Given the description of an element on the screen output the (x, y) to click on. 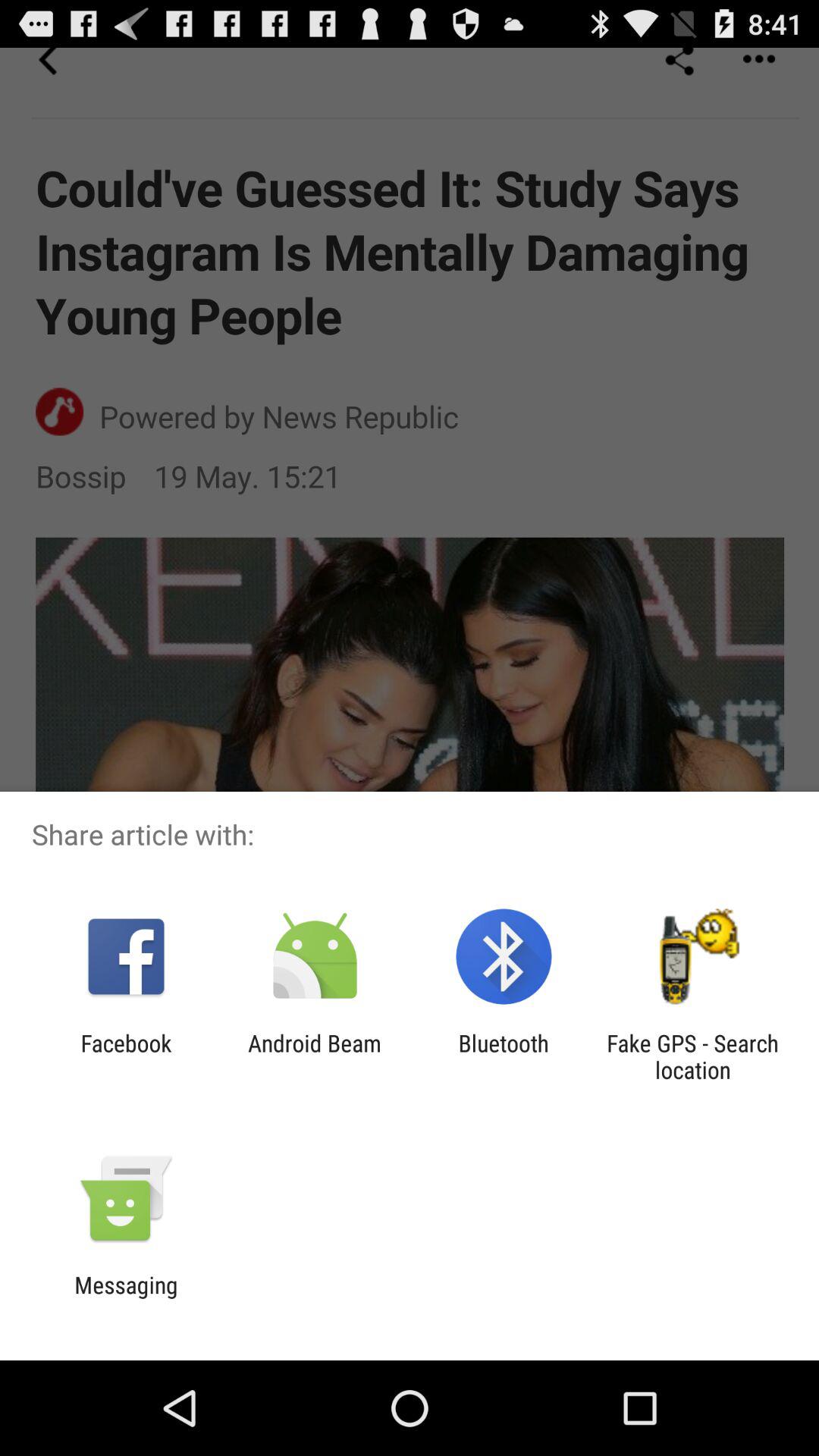
swipe to facebook app (125, 1056)
